Given the description of an element on the screen output the (x, y) to click on. 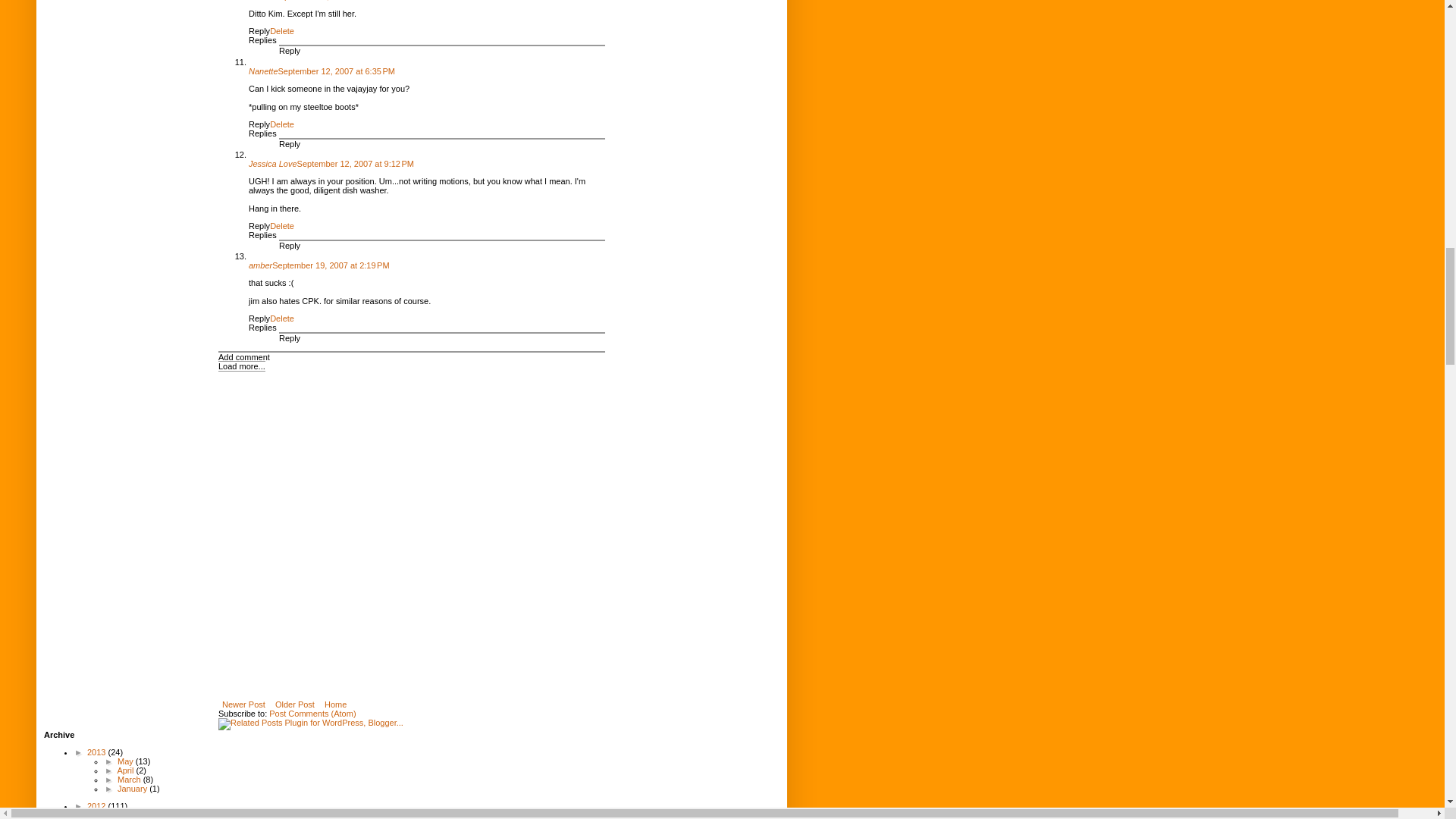
Newer Post (243, 704)
Older Post (294, 704)
